Given the description of an element on the screen output the (x, y) to click on. 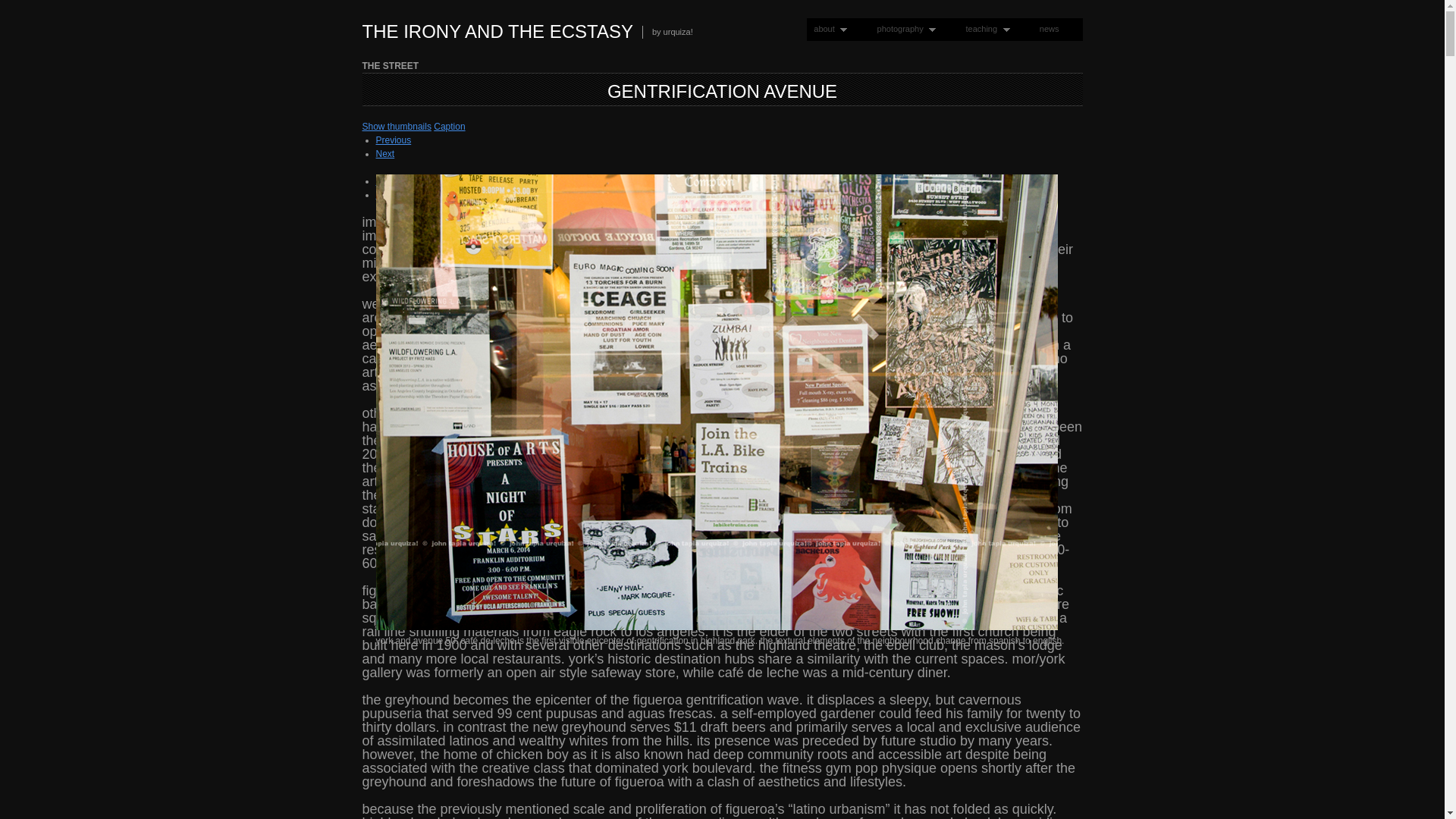
Show thumbnails (396, 126)
Permanent Link to gentrification avenue (722, 91)
THE IRONY AND THE ECSTASY (497, 31)
news (1048, 29)
Next (384, 153)
the irony and the ecstasy (497, 31)
GENTRIFICATION AVENUE (722, 91)
Previous (393, 140)
Caption (448, 126)
